Given the description of an element on the screen output the (x, y) to click on. 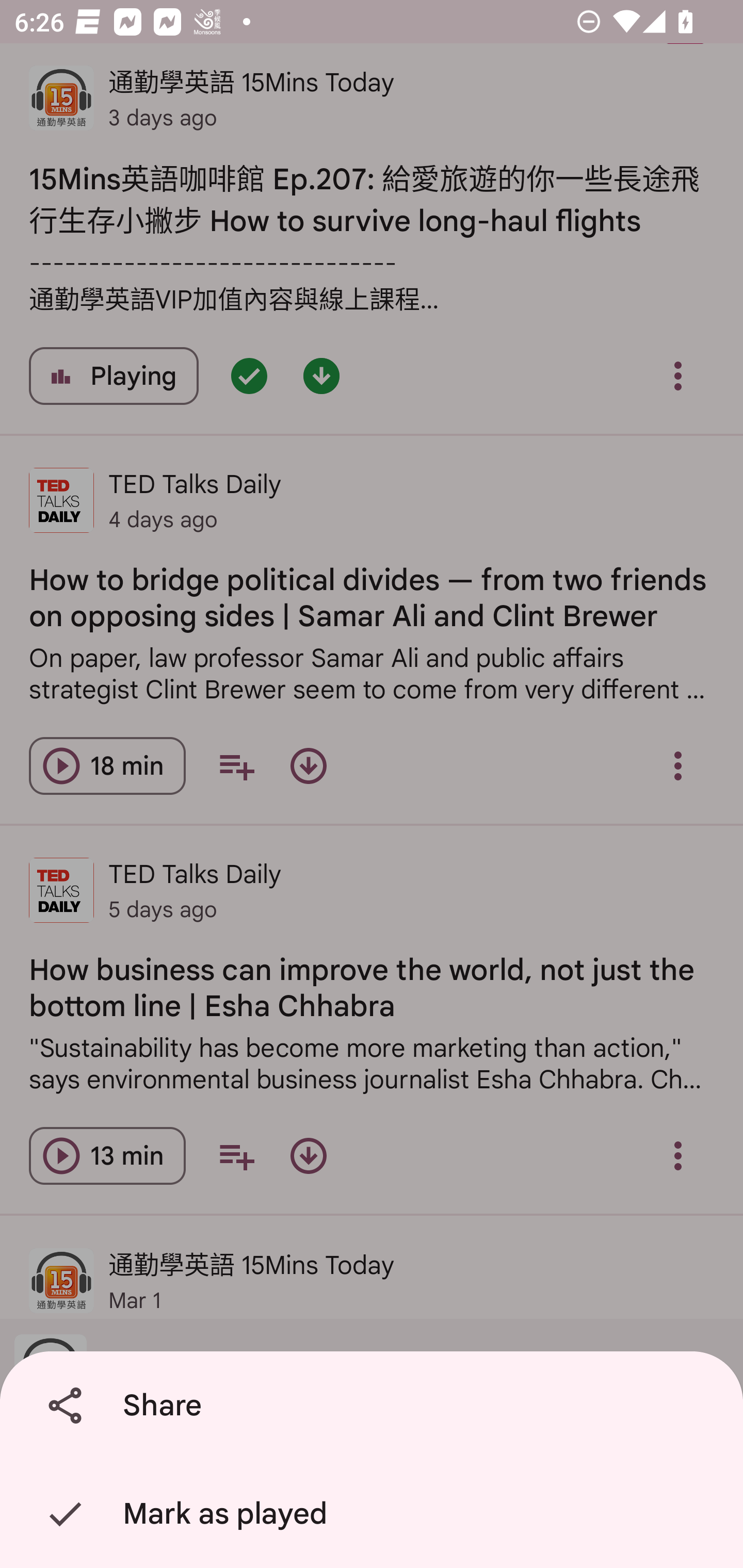
Share (375, 1405)
Mark as played (375, 1513)
